Given the description of an element on the screen output the (x, y) to click on. 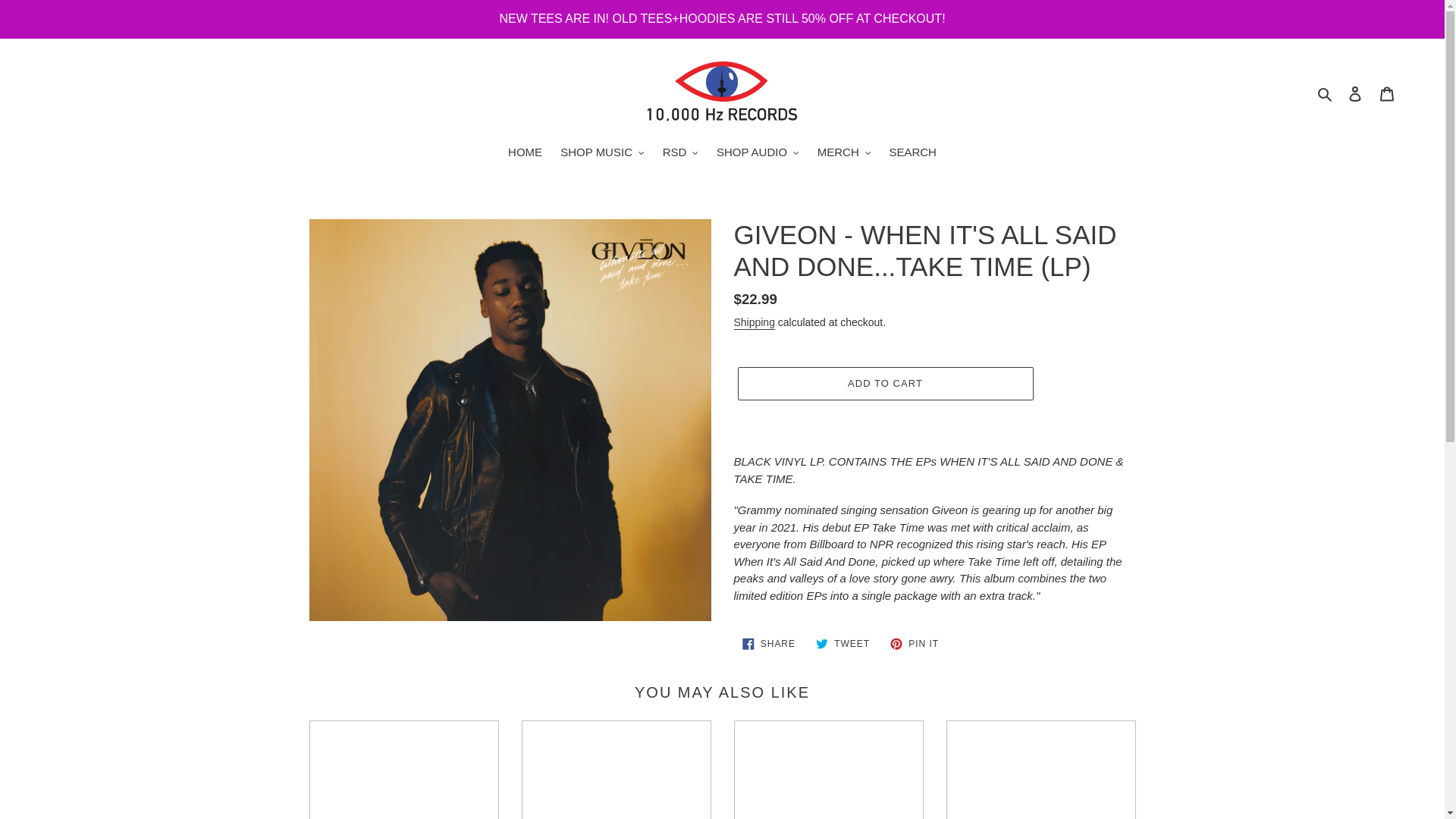
Search (1326, 93)
Cart (1387, 92)
Log in (1355, 92)
